Given the description of an element on the screen output the (x, y) to click on. 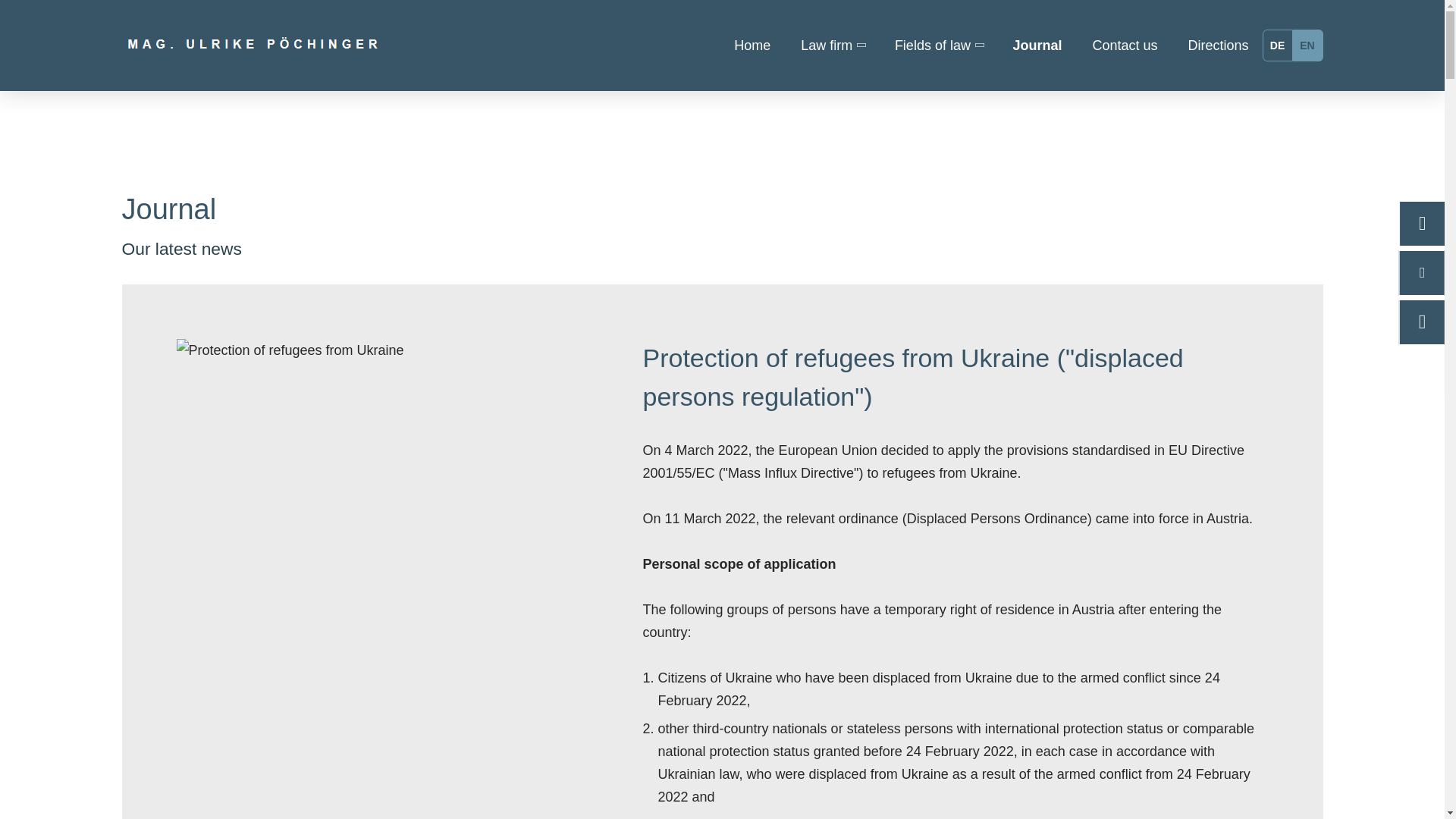
Directions (1209, 45)
Contact us (1124, 45)
Sitemap anzeigen (842, 468)
Home (752, 45)
DE (1277, 45)
Sitemap anzeigen (842, 468)
Journal (1037, 45)
EN (1307, 45)
